Given the description of an element on the screen output the (x, y) to click on. 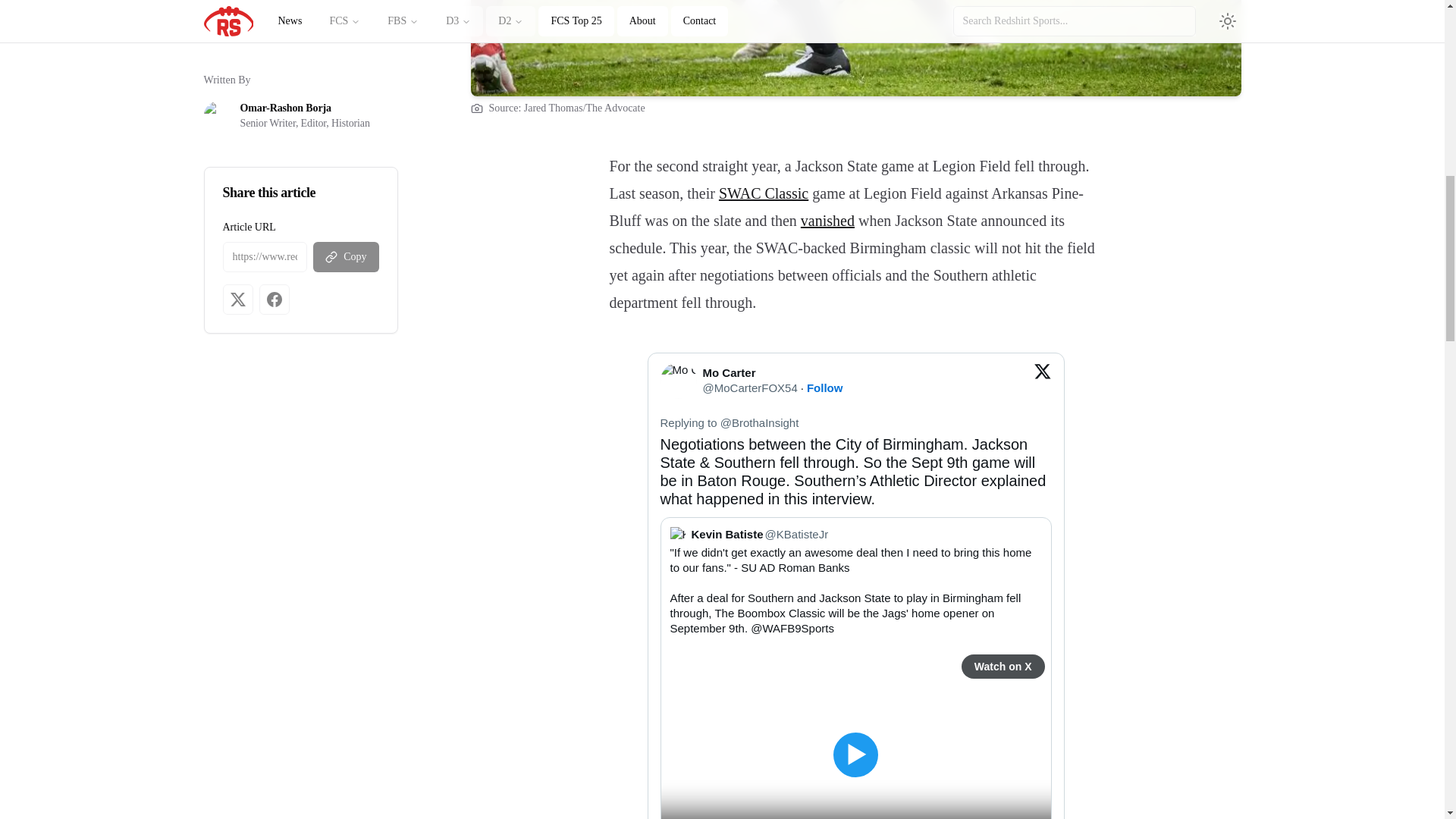
Kevin Batiste (726, 533)
vanished (827, 220)
Watch on X (1002, 666)
Mo Carter (772, 372)
Follow (824, 387)
SWAC Classic (763, 193)
Mo Carter (728, 372)
